Given the description of an element on the screen output the (x, y) to click on. 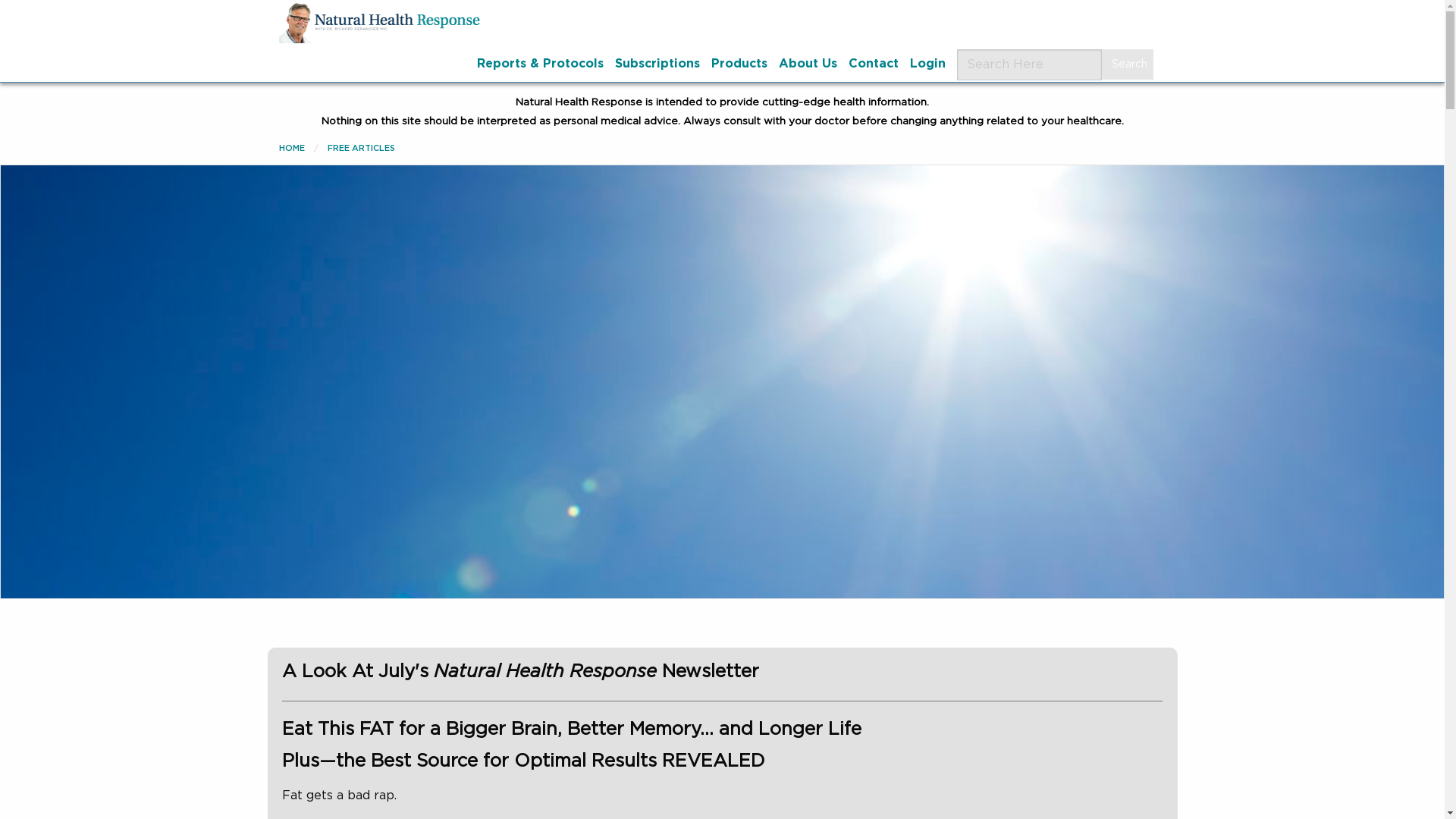
Contact (872, 63)
Search (1127, 64)
Login (927, 63)
HOME (291, 148)
Subscriptions (656, 63)
Products (739, 63)
About Us (806, 63)
FREE ARTICLES (360, 148)
Search (1127, 64)
Natural Health Response (382, 22)
